Given the description of an element on the screen output the (x, y) to click on. 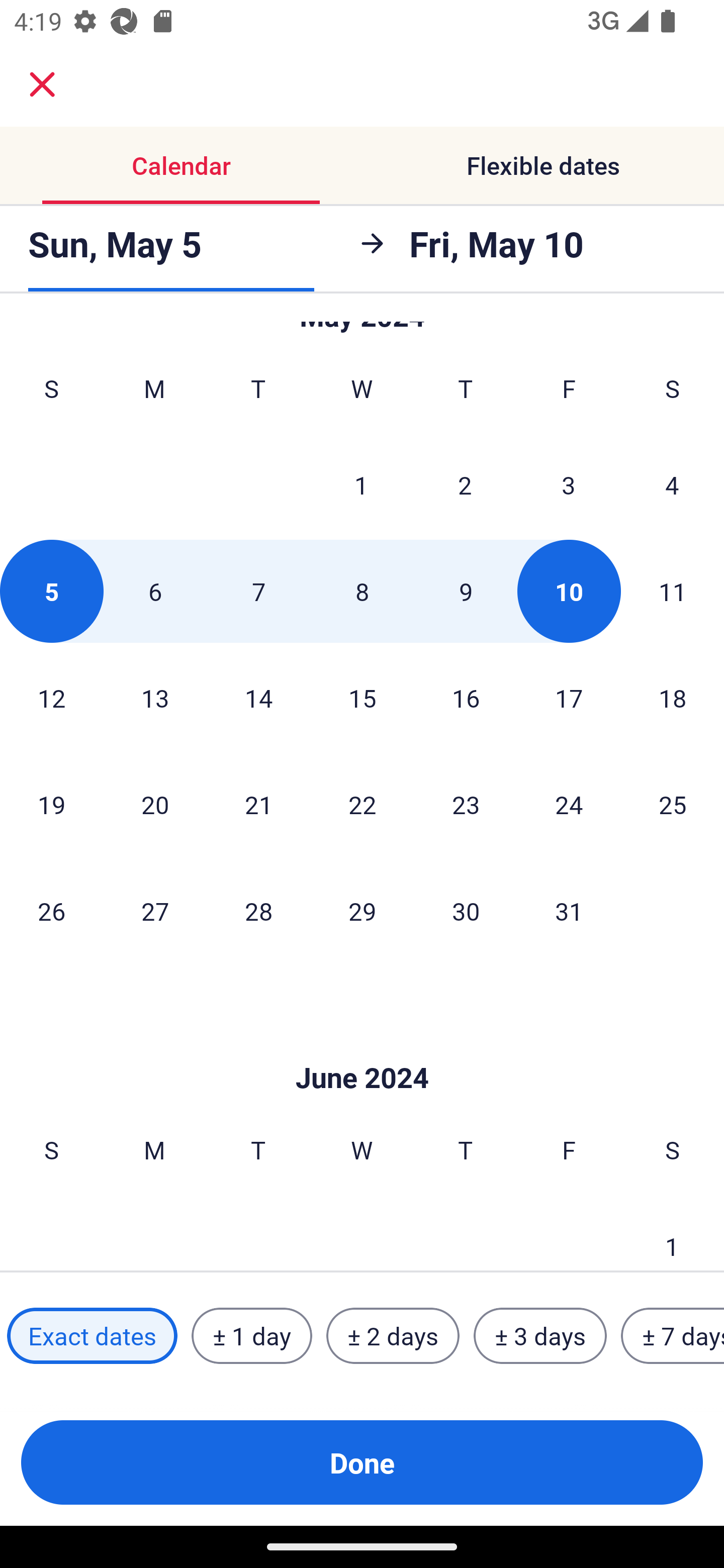
close. (42, 84)
Flexible dates (542, 164)
1 Wednesday, May 1, 2024 (361, 484)
2 Thursday, May 2, 2024 (464, 484)
3 Friday, May 3, 2024 (568, 484)
4 Saturday, May 4, 2024 (672, 484)
11 Saturday, May 11, 2024 (672, 590)
12 Sunday, May 12, 2024 (51, 697)
13 Monday, May 13, 2024 (155, 697)
14 Tuesday, May 14, 2024 (258, 697)
15 Wednesday, May 15, 2024 (362, 697)
16 Thursday, May 16, 2024 (465, 697)
17 Friday, May 17, 2024 (569, 697)
18 Saturday, May 18, 2024 (672, 697)
19 Sunday, May 19, 2024 (51, 804)
20 Monday, May 20, 2024 (155, 804)
21 Tuesday, May 21, 2024 (258, 804)
22 Wednesday, May 22, 2024 (362, 804)
23 Thursday, May 23, 2024 (465, 804)
24 Friday, May 24, 2024 (569, 804)
25 Saturday, May 25, 2024 (672, 804)
26 Sunday, May 26, 2024 (51, 910)
27 Monday, May 27, 2024 (155, 910)
28 Tuesday, May 28, 2024 (258, 910)
29 Wednesday, May 29, 2024 (362, 910)
30 Thursday, May 30, 2024 (465, 910)
31 Friday, May 31, 2024 (569, 910)
Skip to Done (362, 1047)
1 Saturday, June 1, 2024 (672, 1232)
Exact dates (92, 1335)
± 1 day (251, 1335)
± 2 days (392, 1335)
± 3 days (539, 1335)
± 7 days (672, 1335)
Done (361, 1462)
